Given the description of an element on the screen output the (x, y) to click on. 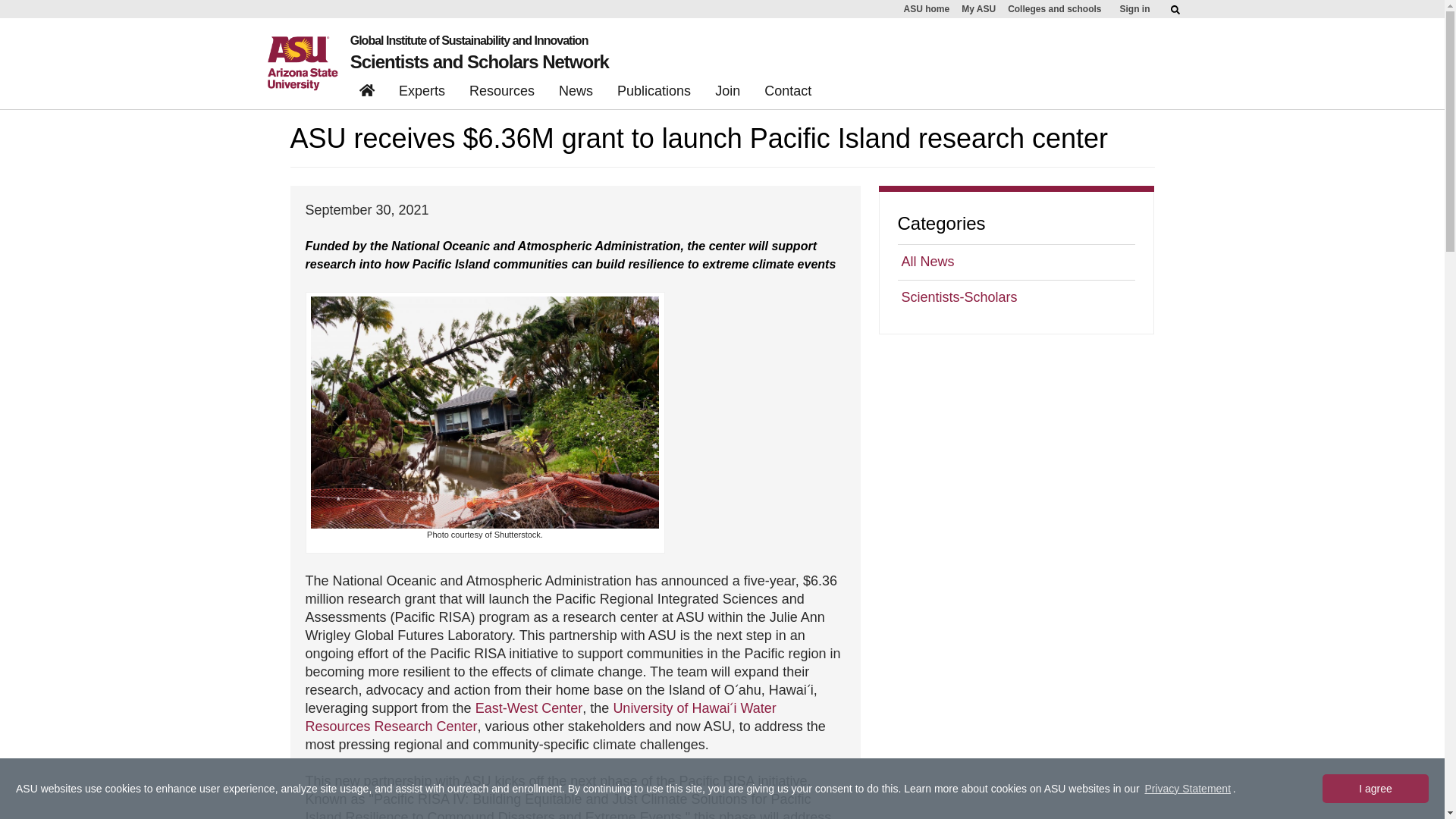
Privacy Statement (1187, 788)
Resources (501, 93)
Join (727, 93)
Scientists and Scholars Network (479, 61)
Publications (654, 93)
All News (1016, 262)
My ASU (978, 9)
Contact (788, 93)
I agree (1375, 788)
Experts (422, 93)
East-West Center (529, 708)
Scientists-Scholars (1016, 297)
Colleges and schools (1053, 9)
Sign in (1134, 9)
